Given the description of an element on the screen output the (x, y) to click on. 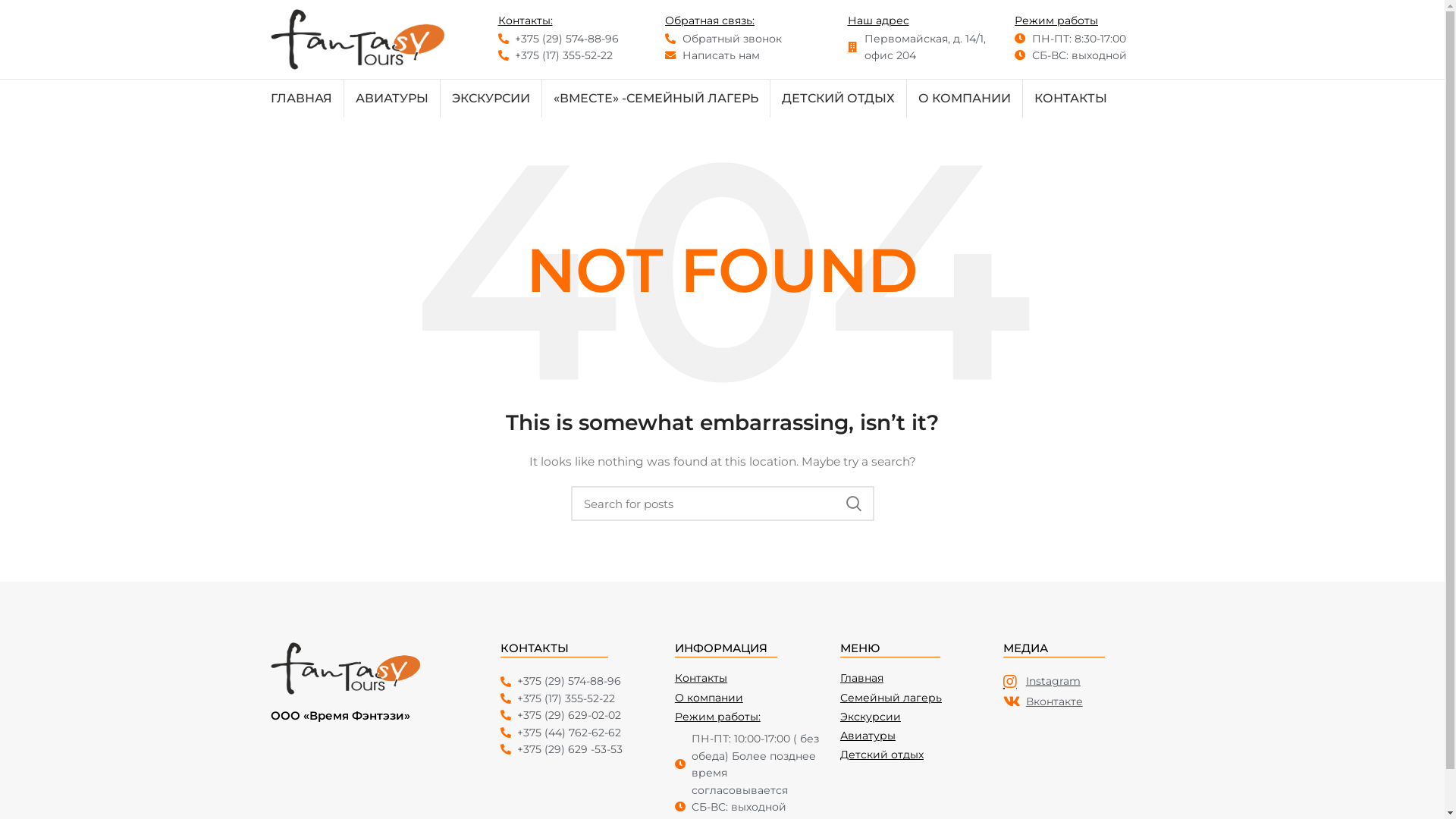
+375 (29) 574-88-96 Element type: text (579, 680)
SEARCH Element type: text (853, 503)
+375 (29) 629 -53-53 Element type: text (579, 748)
Instagram Element type: text (1078, 680)
+375 (29) 629-02-02 Element type: text (579, 714)
+375 (17) 355-52-22 Element type: text (579, 698)
Search for posts Element type: hover (721, 503)
+375 (17) 355-52-22 Element type: text (573, 55)
+375 (44) 762-62-62 Element type: text (579, 732)
+375 (29) 574-88-96 Element type: text (573, 38)
